Given the description of an element on the screen output the (x, y) to click on. 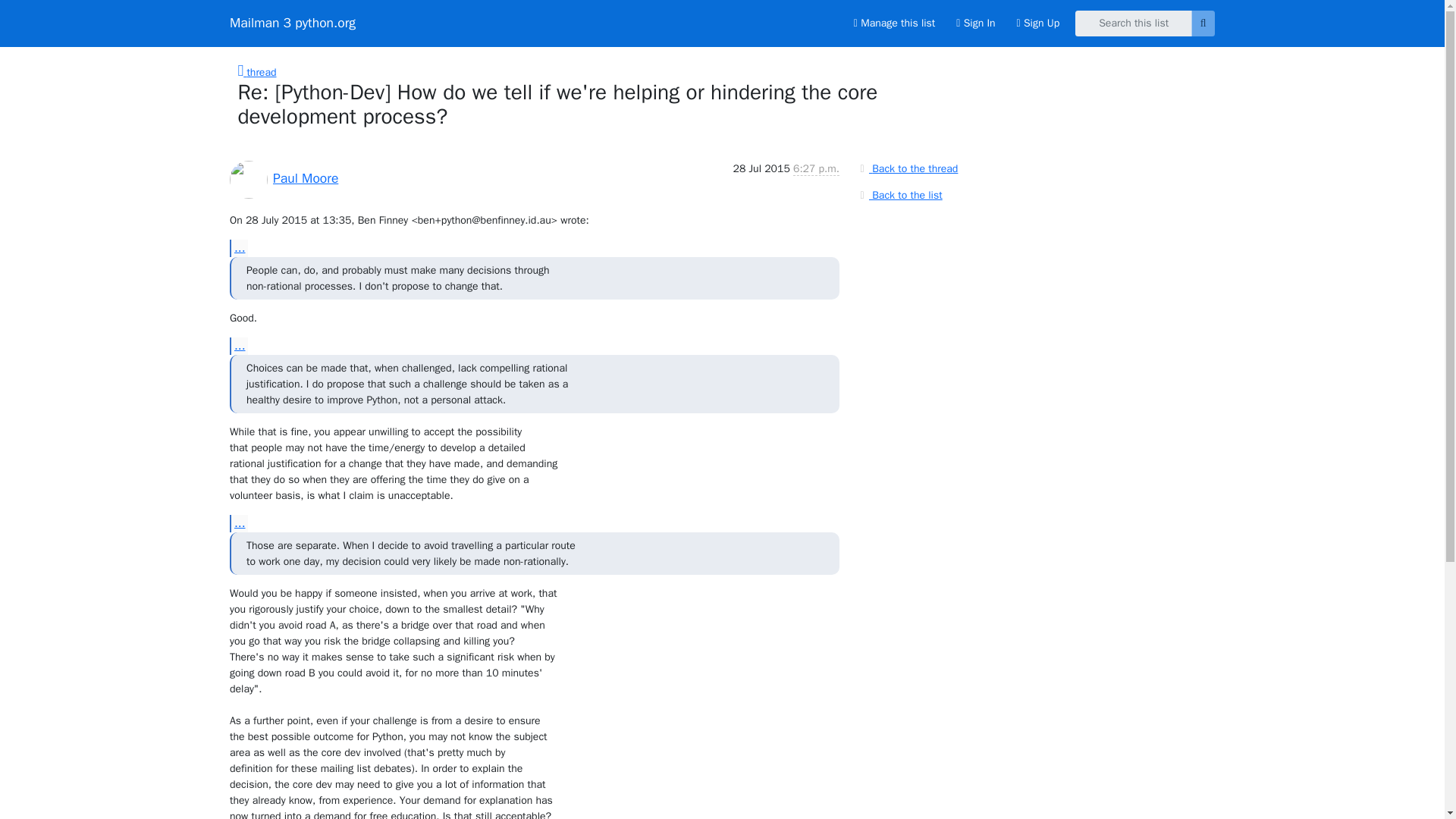
Sign In (975, 22)
See the profile for Paul Moore (305, 177)
Sign Up (1038, 22)
Manage this list (893, 22)
... (238, 248)
Mailman 3 python.org (292, 23)
Paul Moore (305, 177)
thread (257, 72)
Back to the thread (907, 168)
Back to the list (899, 194)
... (238, 345)
... (238, 523)
Sender's time: July 28, 2015, 1:57 p.m. (816, 169)
